Given the description of an element on the screen output the (x, y) to click on. 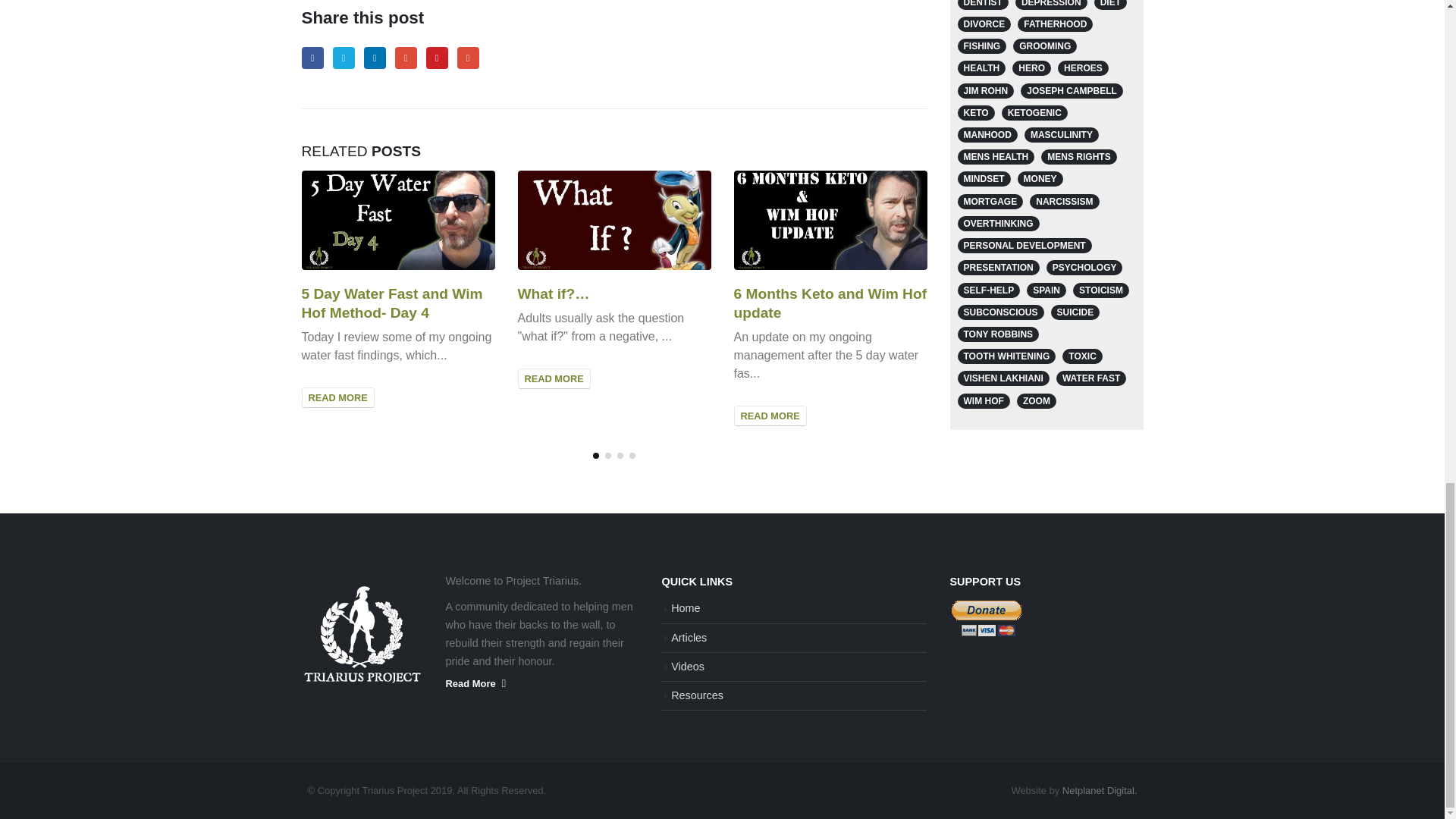
Digital Marketing SEO Agency Sydney (1099, 790)
Facebook (312, 57)
PayPal - The safer, easier way to pay online! (987, 618)
